Given the description of an element on the screen output the (x, y) to click on. 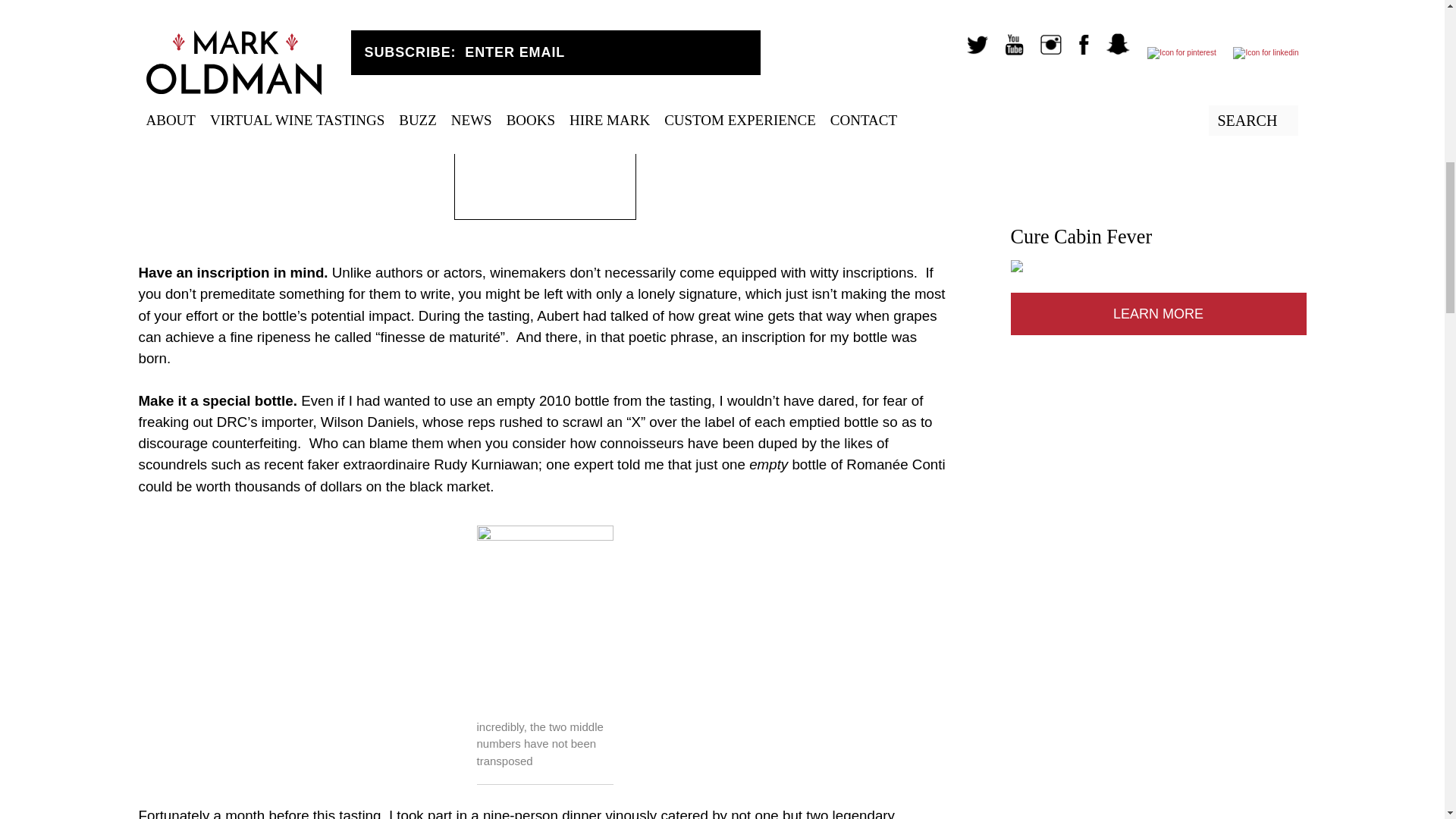
Sharpies (543, 151)
Yquem-new (544, 616)
